Given the description of an element on the screen output the (x, y) to click on. 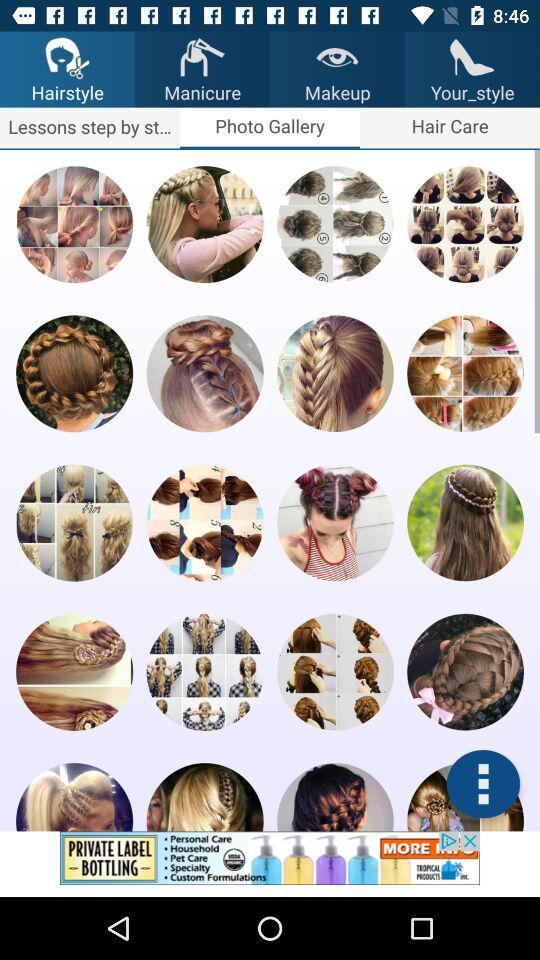
select the photo (335, 224)
